Given the description of an element on the screen output the (x, y) to click on. 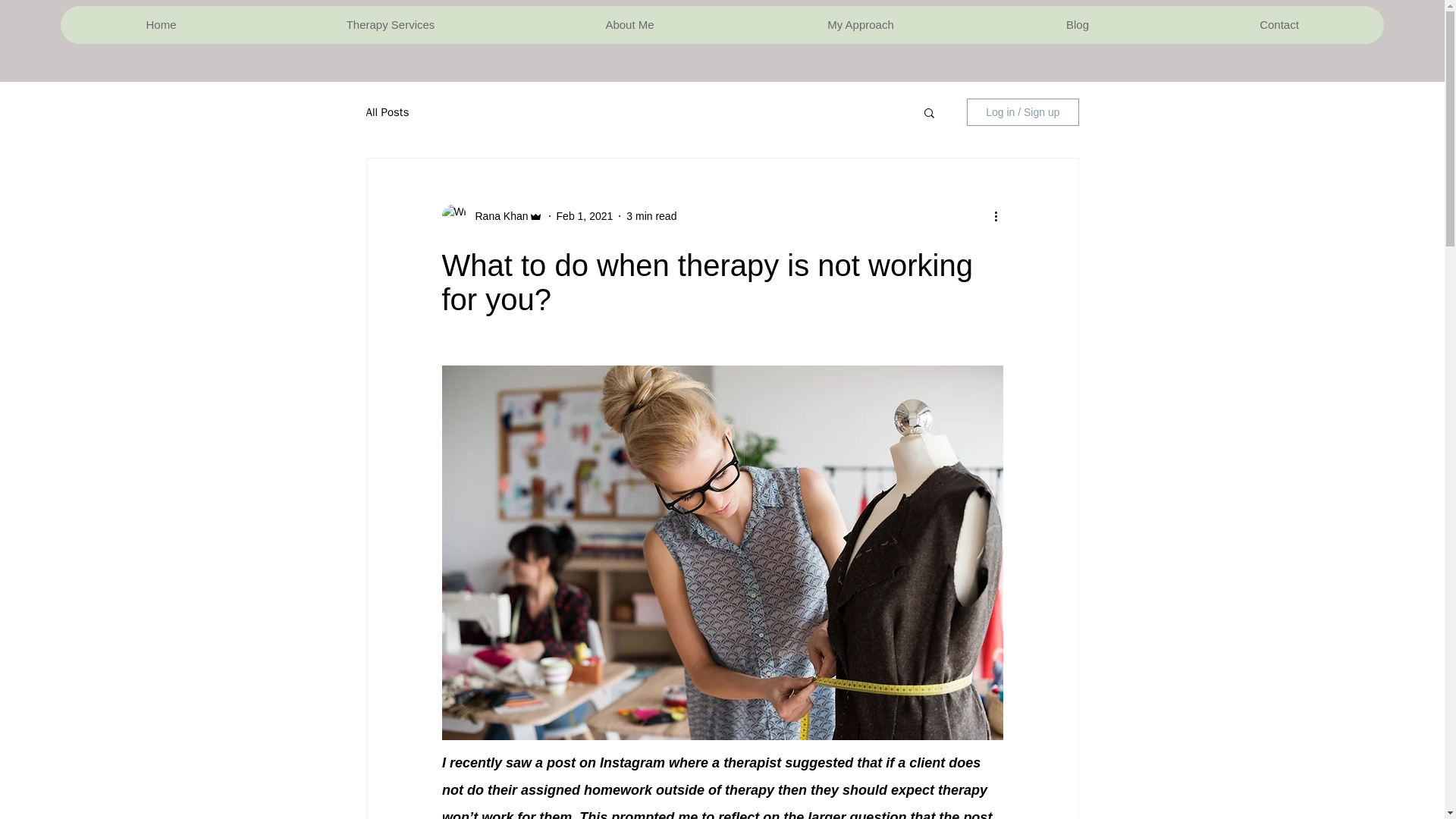
Home (161, 24)
My Approach (859, 24)
Blog (1076, 24)
Feb 1, 2021 (584, 215)
3 min read (651, 215)
Therapy Services (390, 24)
Rana Khan (496, 215)
All Posts (387, 111)
Contact (1278, 24)
About Me (628, 24)
